Given the description of an element on the screen output the (x, y) to click on. 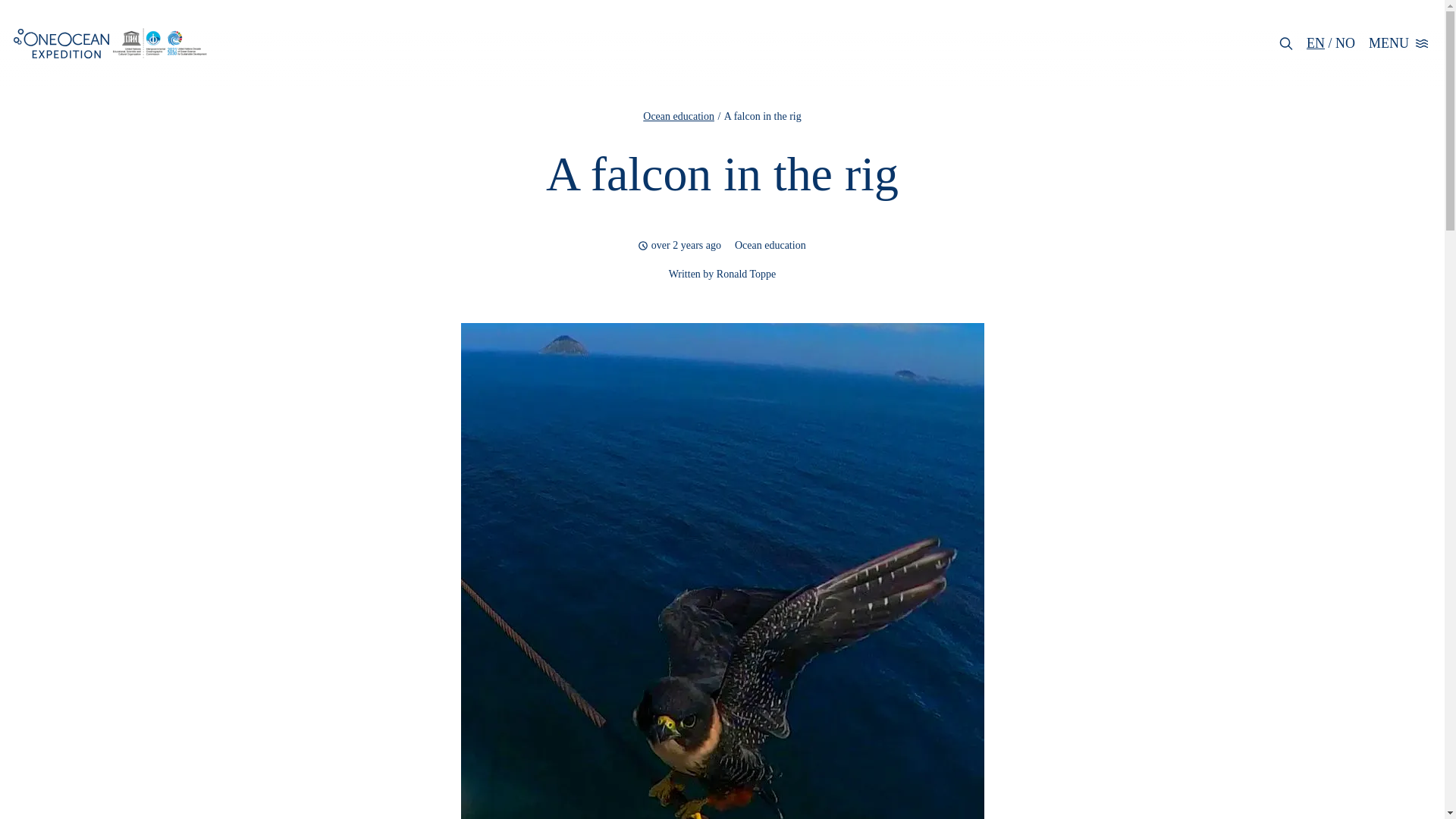
MENU (1399, 43)
NO (1345, 43)
Ocean education (678, 116)
